Given the description of an element on the screen output the (x, y) to click on. 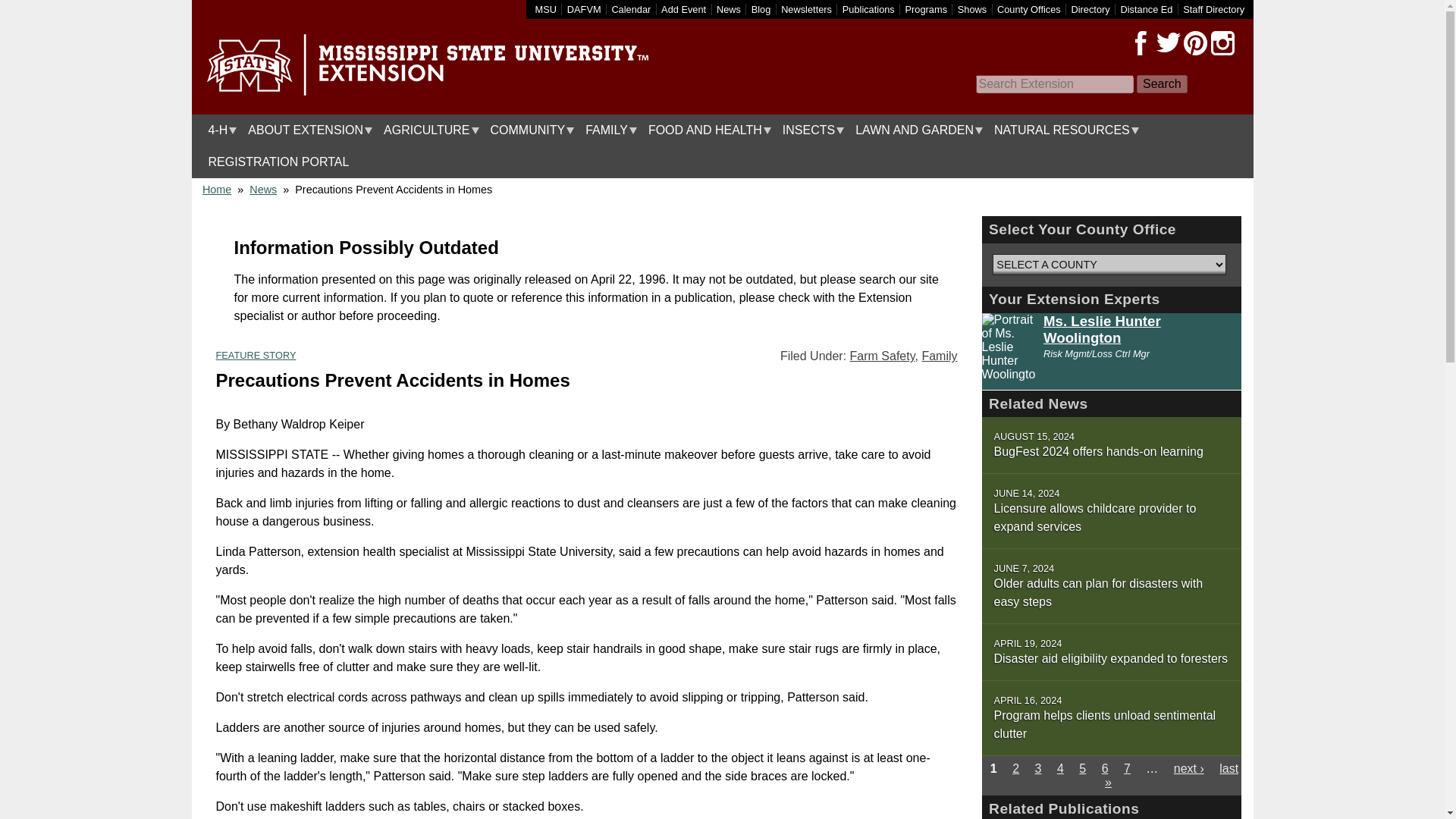
Link to Mississippi State University (545, 9)
Newsletters (805, 9)
4-H (218, 130)
List of Extension Programs (926, 9)
Twitter (1167, 43)
Staff Directory (1213, 9)
Search (1162, 84)
DAFVM (584, 9)
